Given the description of an element on the screen output the (x, y) to click on. 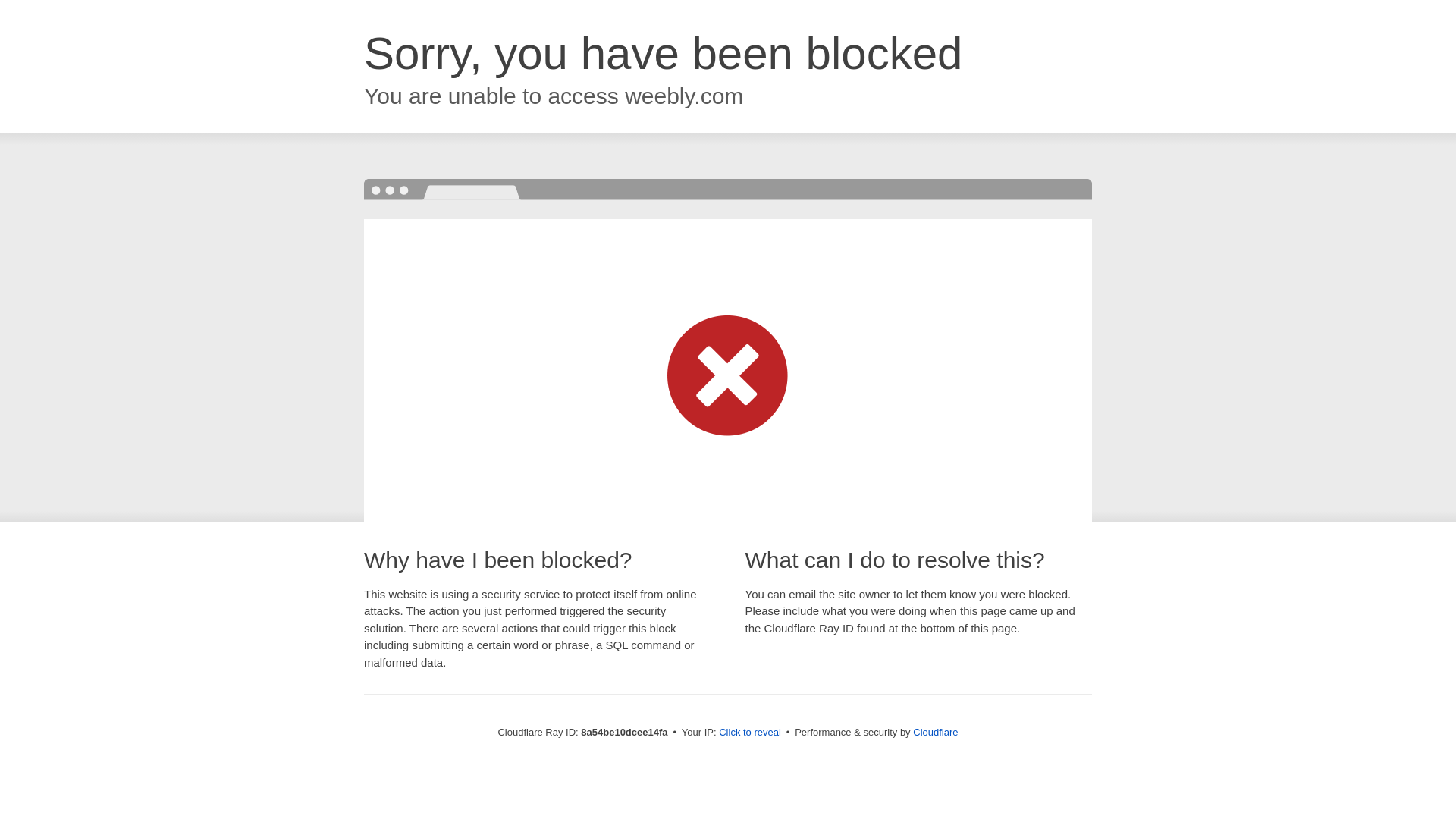
Cloudflare (935, 731)
Click to reveal (749, 732)
